Given the description of an element on the screen output the (x, y) to click on. 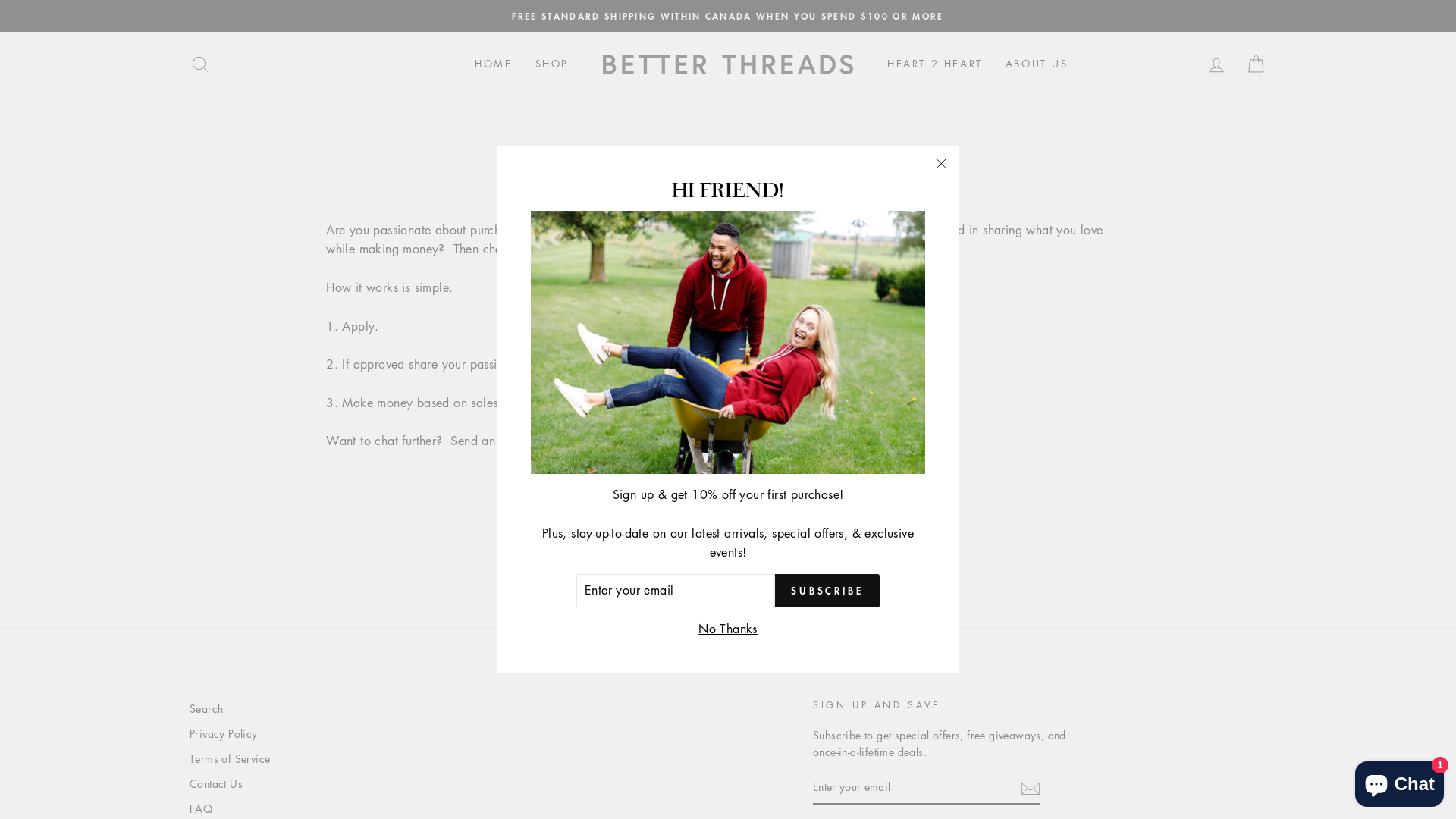
SUBSCRIBE Element type: text (827, 590)
HOME Element type: text (493, 64)
SEARCH Element type: text (199, 63)
"Close (esc)" Element type: text (940, 163)
LOG IN Element type: text (1216, 63)
ABOUT US Element type: text (1036, 64)
No Thanks Element type: text (727, 629)
Terms of Service Element type: text (229, 758)
Skip to content Element type: text (0, 0)
HEART 2 HEART Element type: text (934, 64)
Contact Us Element type: text (215, 783)
Privacy Policy Element type: text (223, 733)
Shopify online store chat Element type: hover (1399, 780)
SHOP Element type: text (552, 64)
CART Element type: text (1255, 63)
Search Element type: text (205, 708)
